Given the description of an element on the screen output the (x, y) to click on. 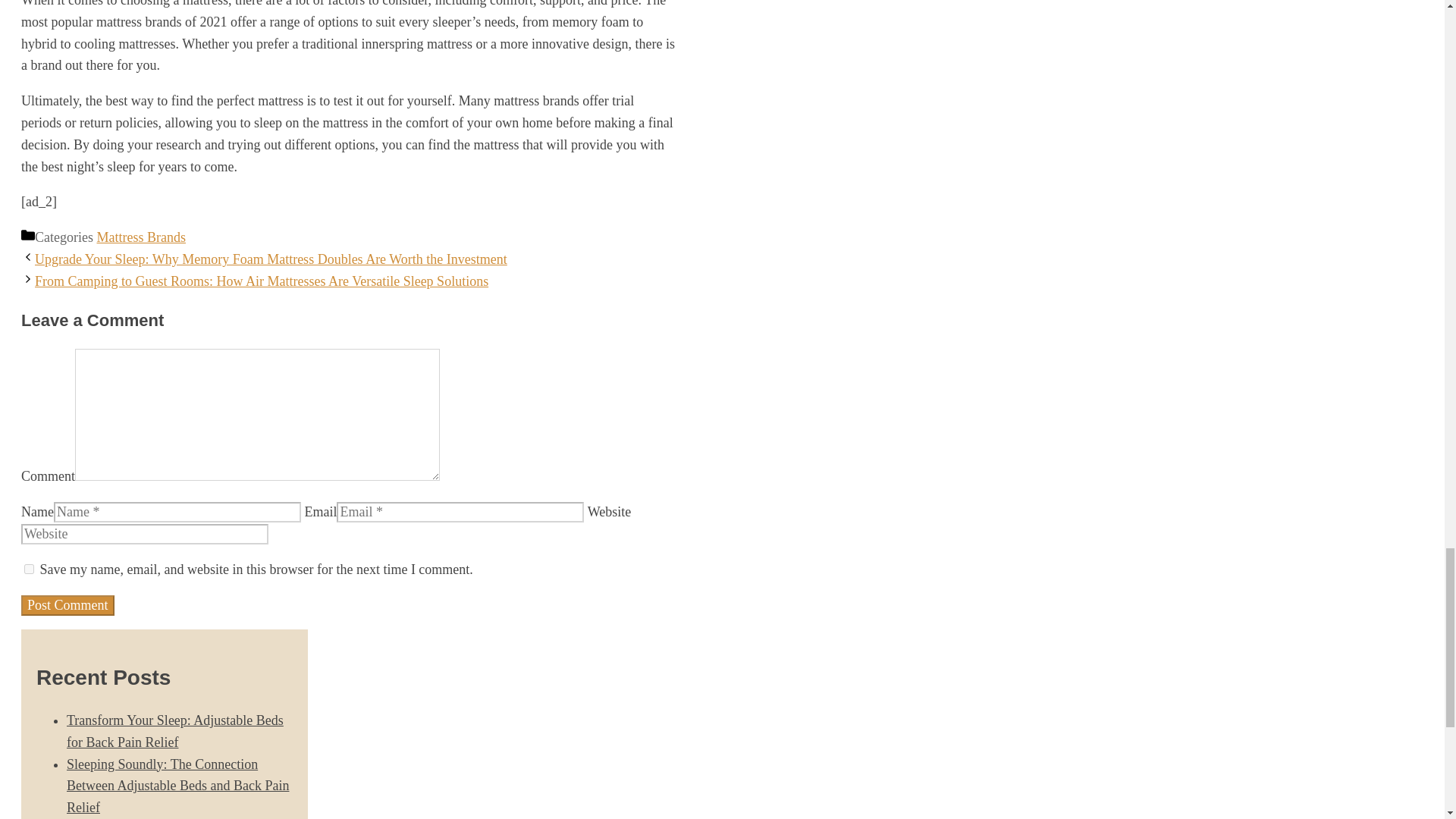
Transform Your Sleep: Adjustable Beds for Back Pain Relief (174, 731)
yes (28, 569)
Post Comment (68, 605)
Post Comment (68, 605)
Mattress Brands (140, 237)
